Given the description of an element on the screen output the (x, y) to click on. 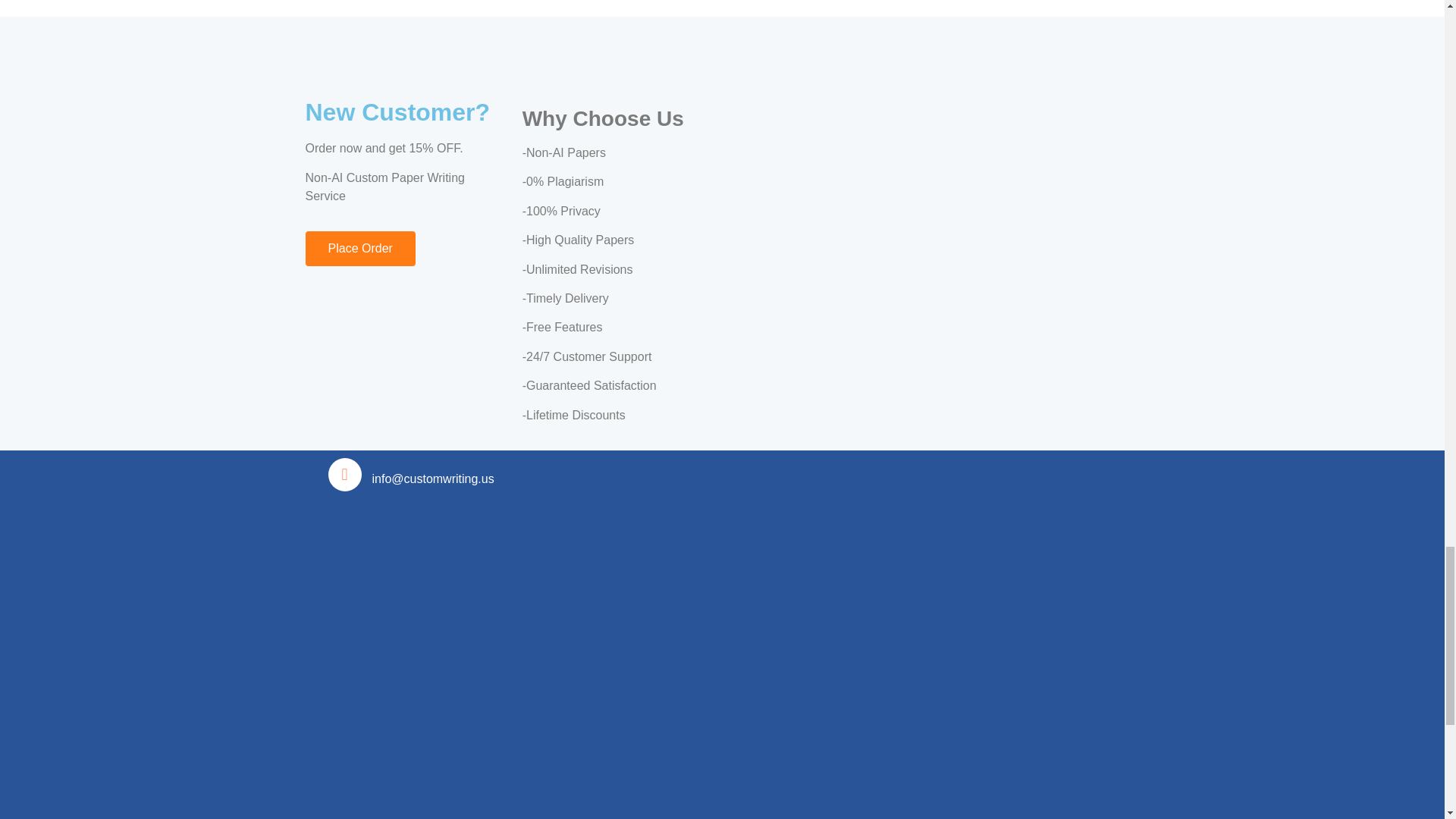
Place Order (359, 248)
